Given the description of an element on the screen output the (x, y) to click on. 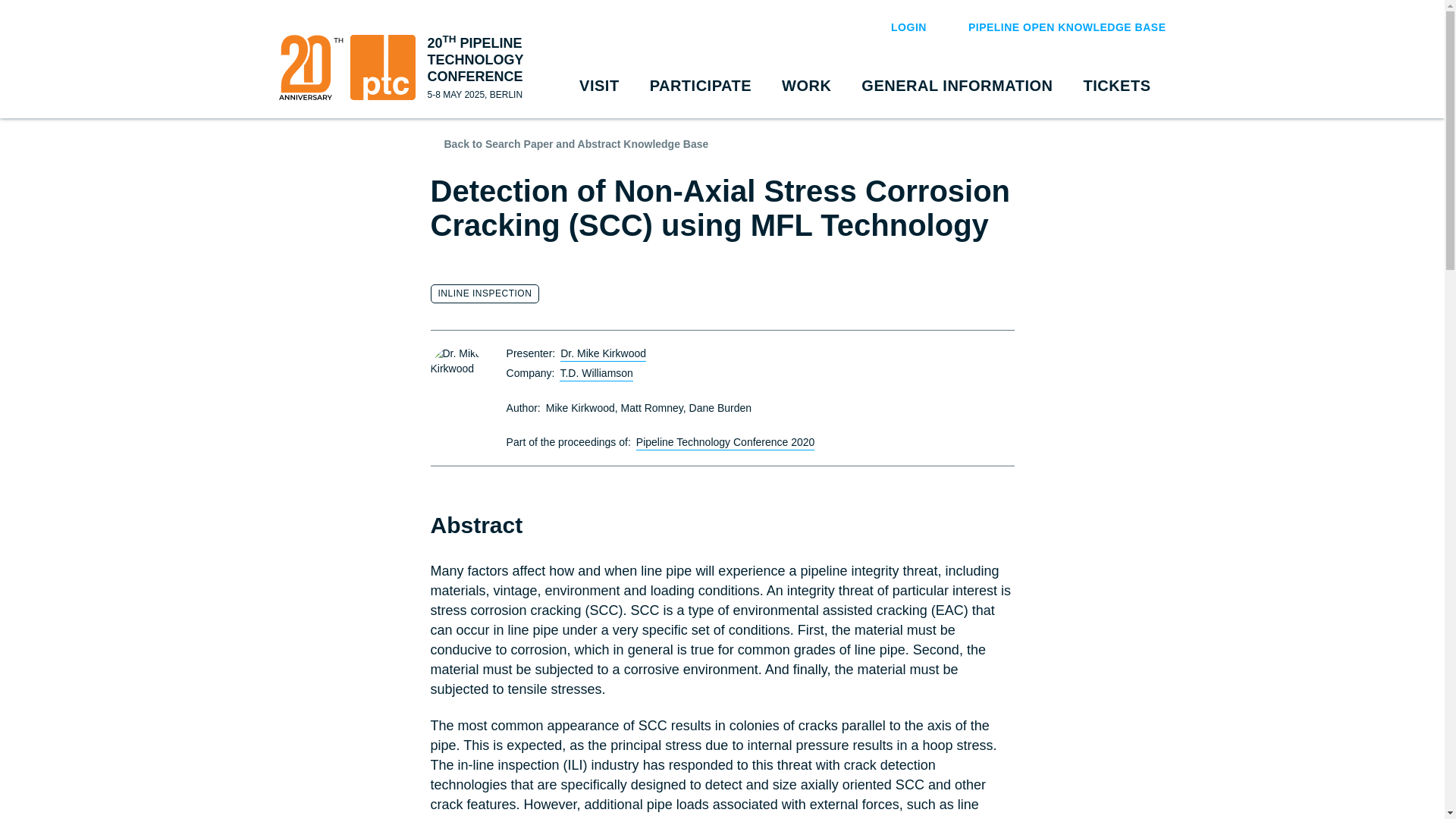
LOGIN (899, 27)
Dr. Mike Kirkwood (456, 371)
PIPELINE OPEN KNOWLEDGE BASE (1057, 27)
